Given the description of an element on the screen output the (x, y) to click on. 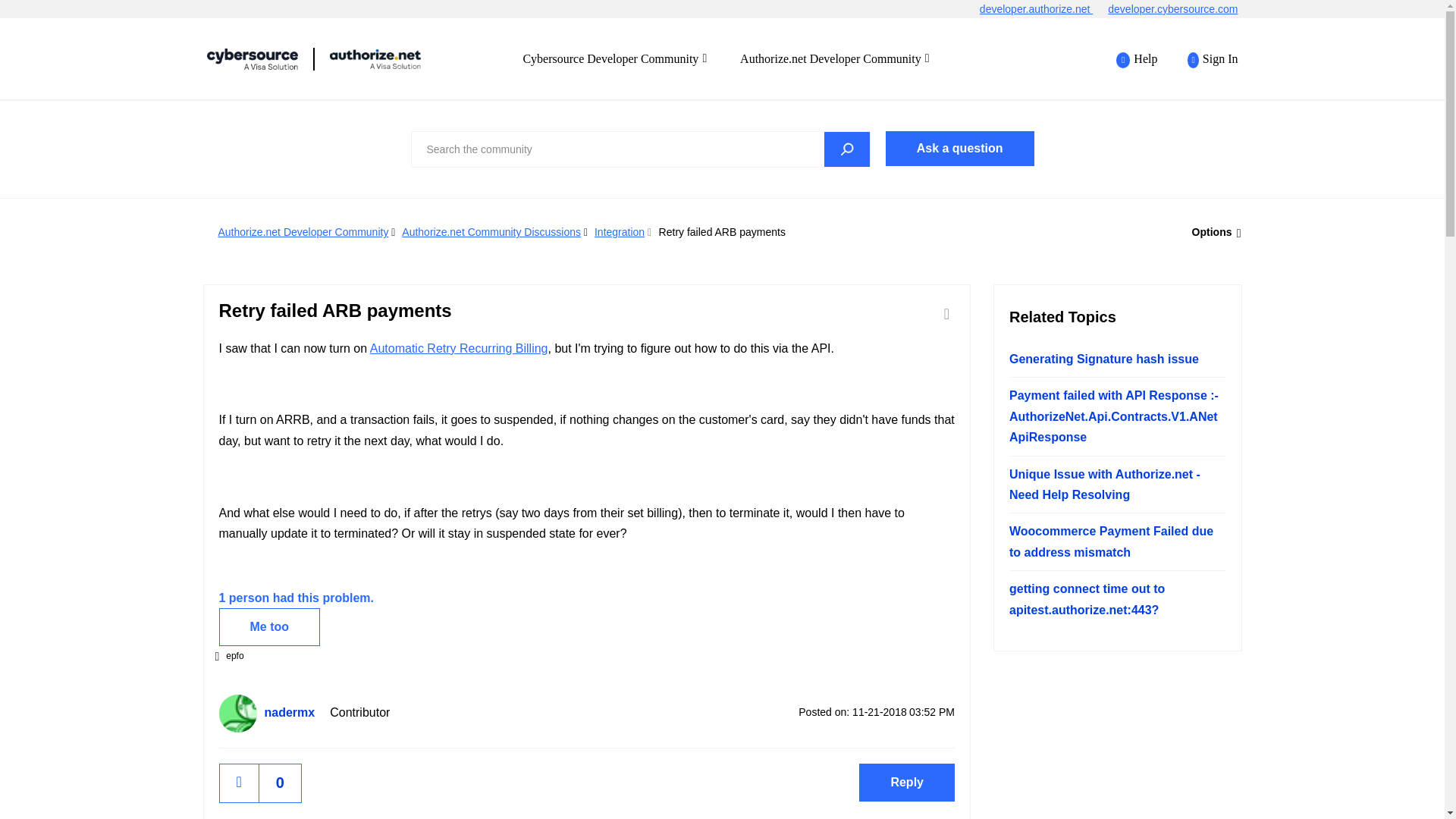
Cybersource Developer Community (251, 58)
developer.cybersource.com (1180, 9)
Click here to give kudos to this post. (239, 782)
developer.authorize.net (1043, 9)
The total number of kudos this post has received. (280, 782)
Options (1211, 232)
Authorize.net Developer Community (303, 232)
nadermx (237, 713)
Cybersource Developer Community (374, 58)
Search (846, 149)
Help (1136, 58)
Authorize.net Community Discussions (490, 232)
Sign In (1204, 58)
Show option menu (1211, 232)
Ask a question (959, 148)
